Given the description of an element on the screen output the (x, y) to click on. 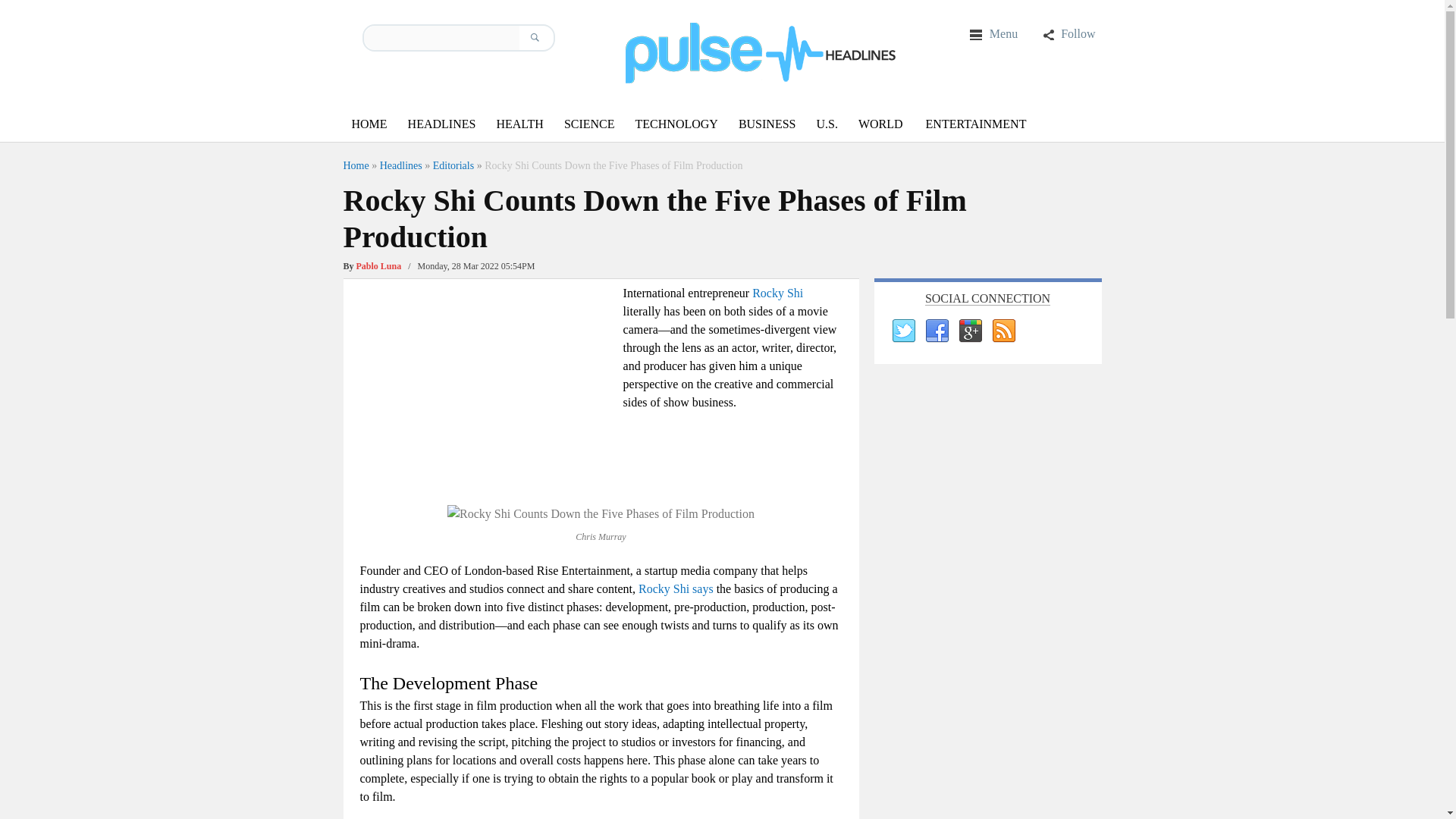
 View all posts by Pablo Luna (378, 266)
U.S. (826, 123)
HOME (368, 123)
Headlines (401, 165)
Pablo Luna (378, 266)
SCIENCE (589, 123)
ENTERTAINMENT (975, 123)
Rocky Shi (777, 292)
Editorials (453, 165)
TECHNOLOGY (676, 123)
Advertisement (486, 390)
RSS (1002, 331)
Follow (1068, 33)
BUSINESS (767, 123)
Home (355, 165)
